Given the description of an element on the screen output the (x, y) to click on. 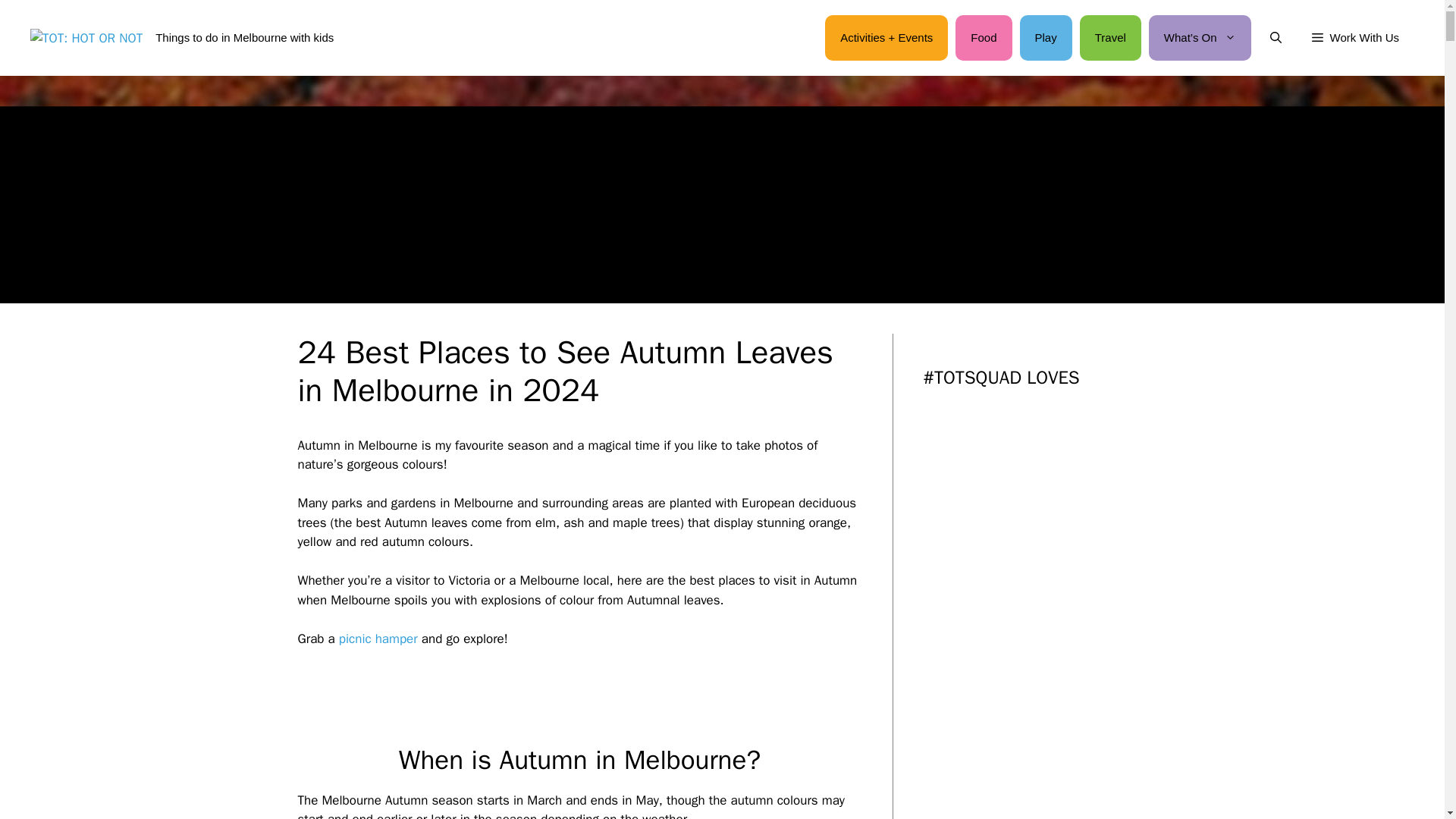
Work With Us (1355, 37)
Play (1045, 37)
picnic hamper (378, 638)
Food (983, 37)
Travel (1110, 37)
